Given the description of an element on the screen output the (x, y) to click on. 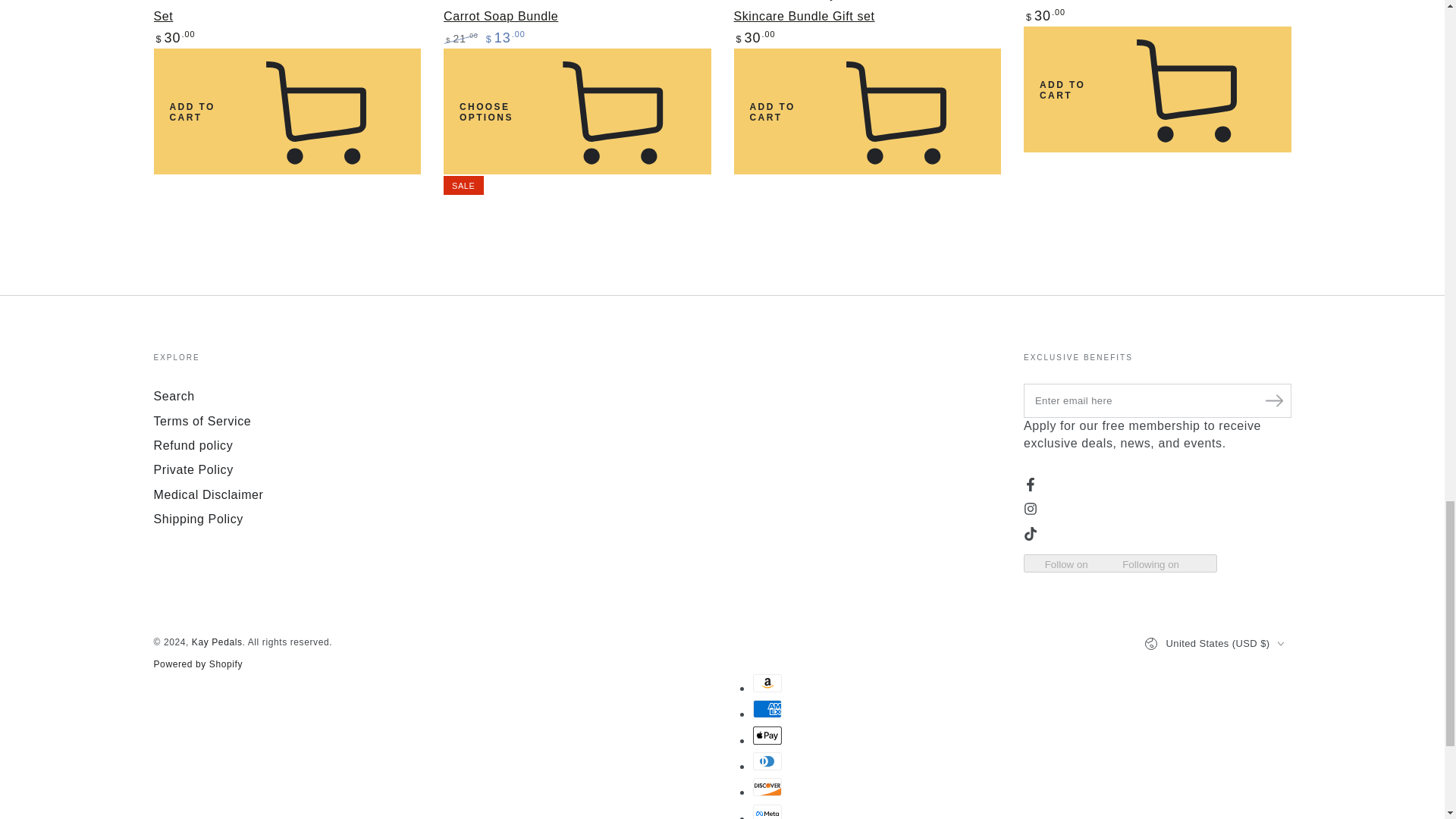
Amazon (766, 683)
American Express (766, 709)
Diners Club (766, 761)
Apple Pay (766, 735)
Discover (766, 787)
